Given the description of an element on the screen output the (x, y) to click on. 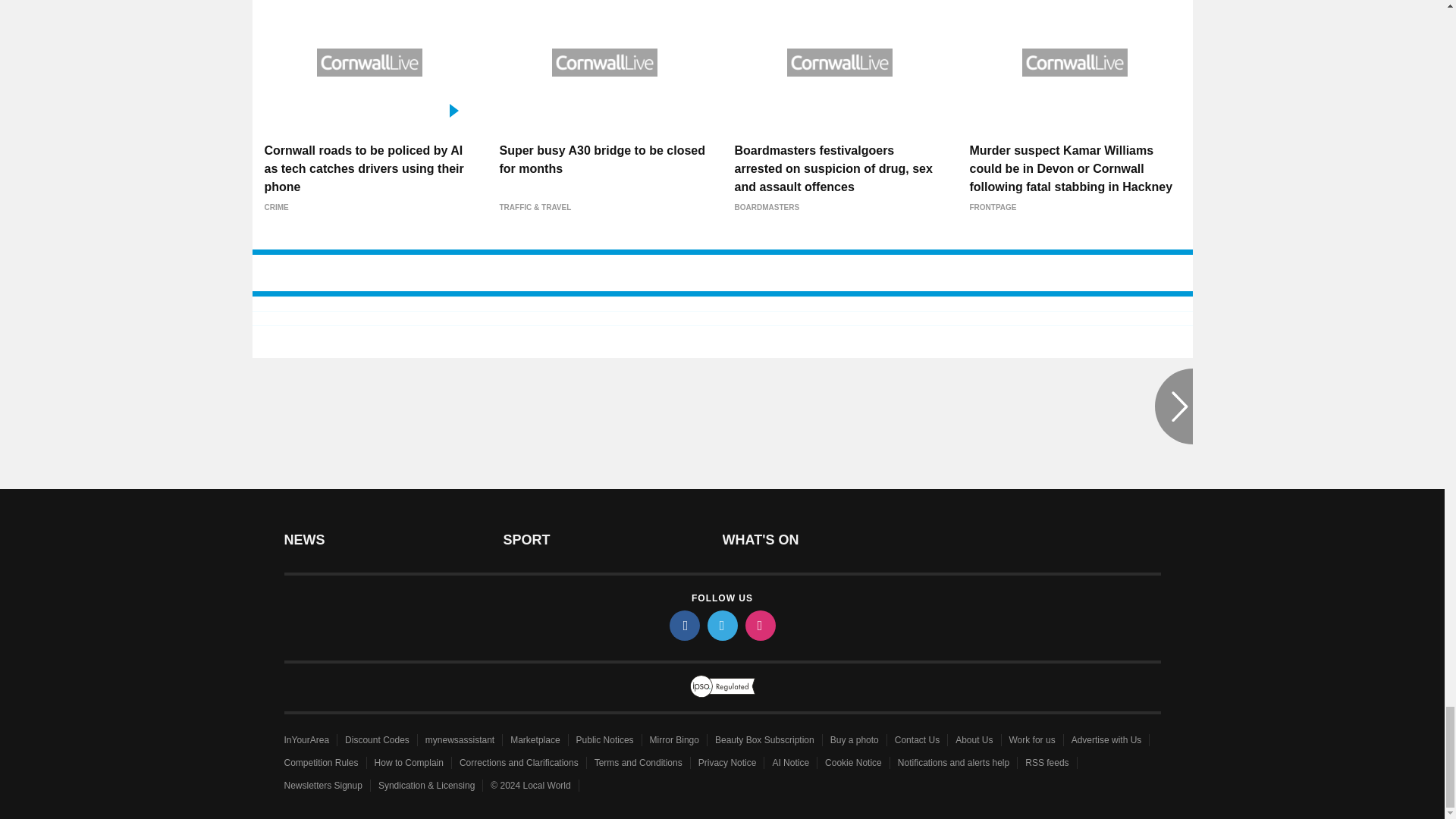
twitter (721, 625)
facebook (683, 625)
instagram (759, 625)
